Given the description of an element on the screen output the (x, y) to click on. 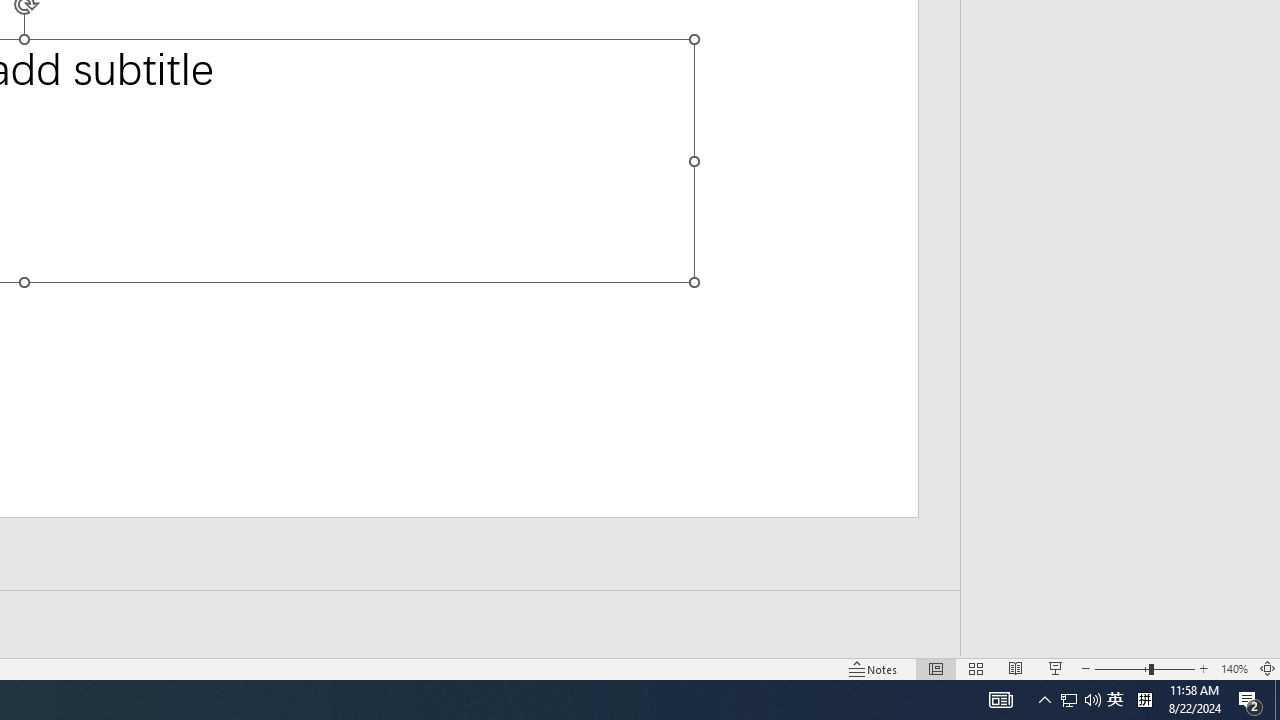
Zoom 140% (1234, 668)
